Given the description of an element on the screen output the (x, y) to click on. 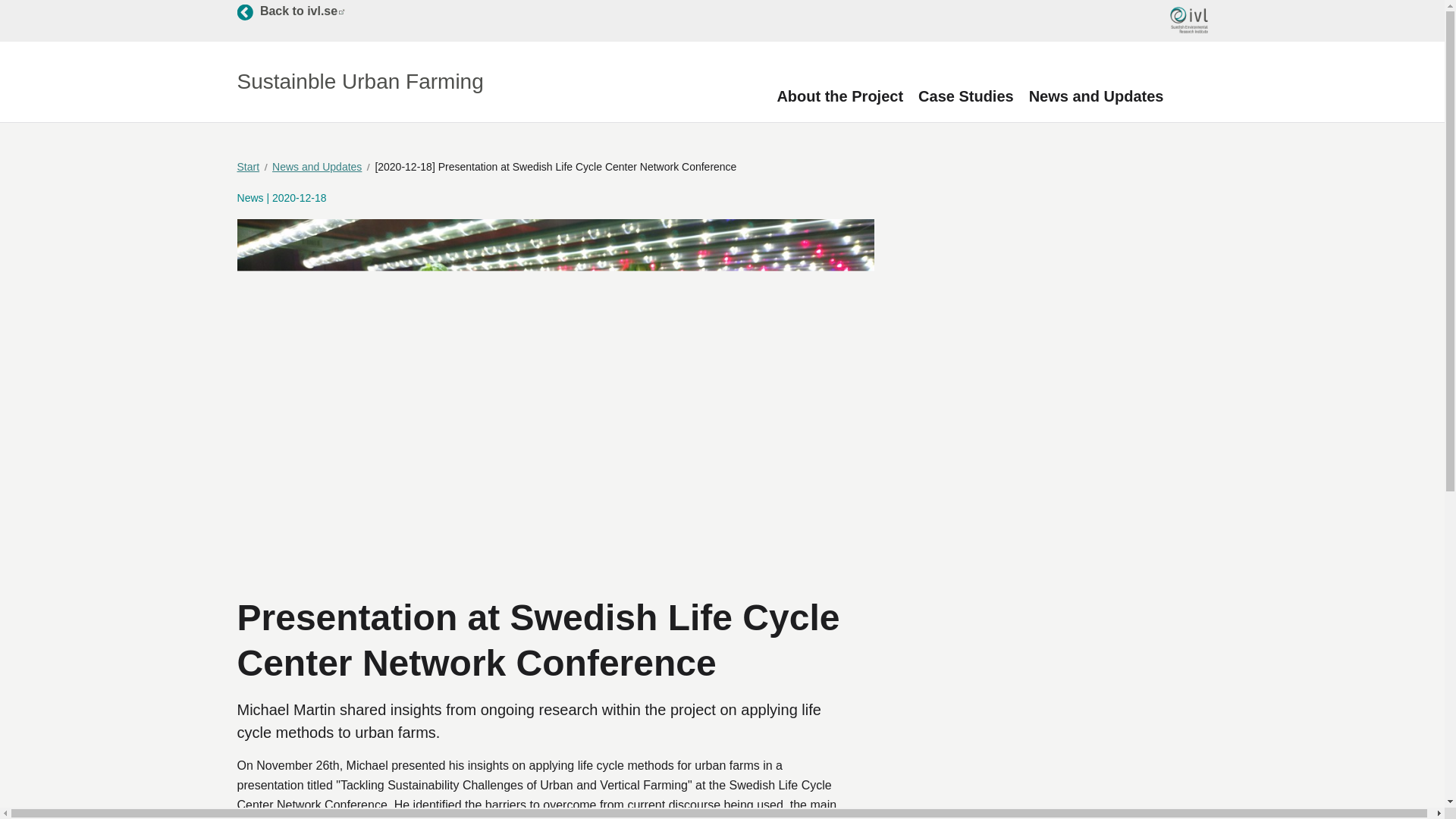
Accept all cookies (290, 11)
Start (97, 763)
Case Studies (251, 166)
About the Project (965, 95)
Read our cookie policy (839, 95)
Settings (82, 718)
News and Updates (446, 763)
News and Updates (1096, 95)
